Given the description of an element on the screen output the (x, y) to click on. 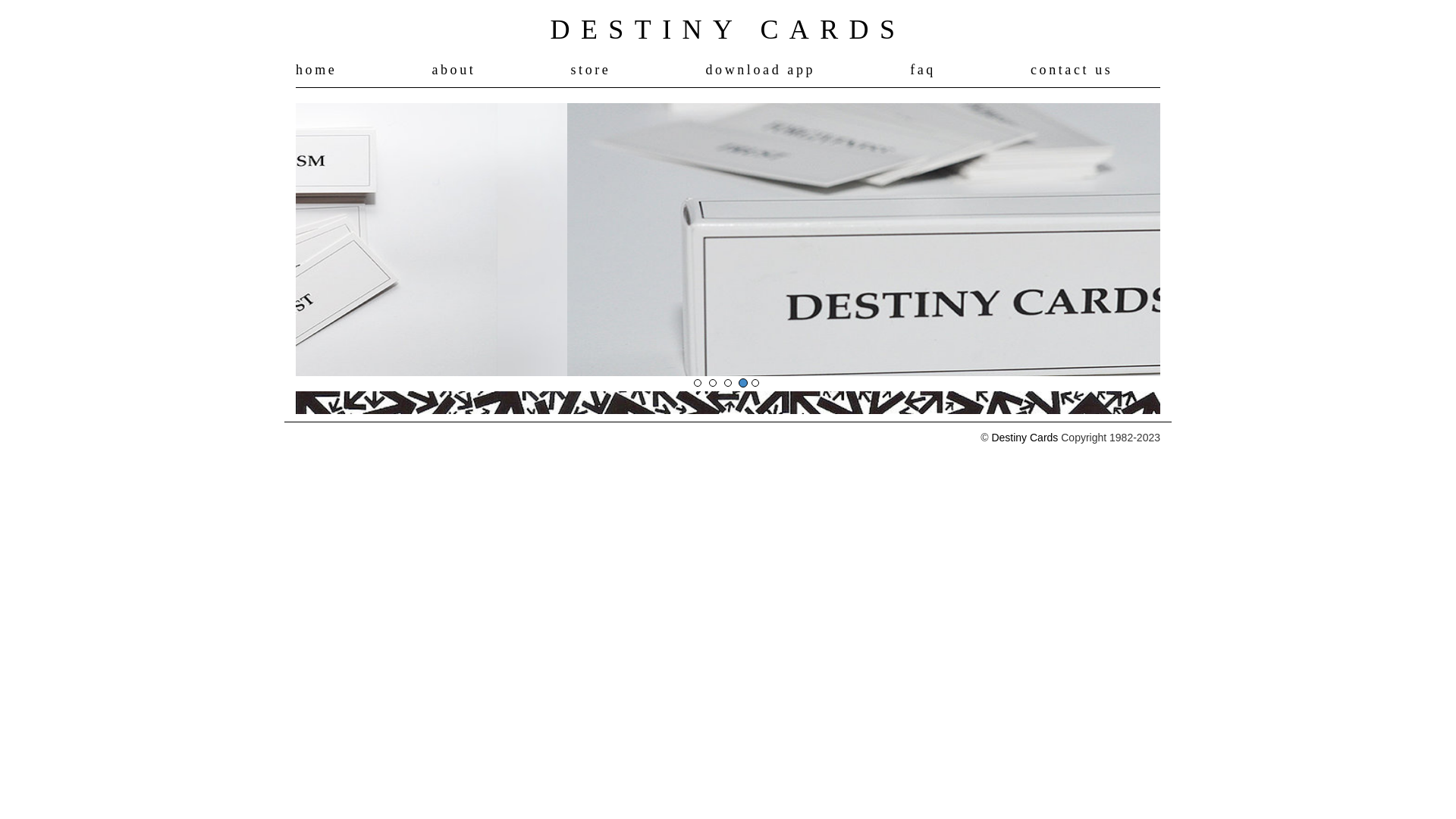
contact us Element type: text (1071, 69)
Destiny Cards Element type: text (1024, 437)
faq Element type: text (922, 69)
store Element type: text (590, 69)
DESTINY CARDS Element type: text (728, 29)
about Element type: text (453, 69)
home Element type: text (315, 69)
download app Element type: text (760, 69)
